Given the description of an element on the screen output the (x, y) to click on. 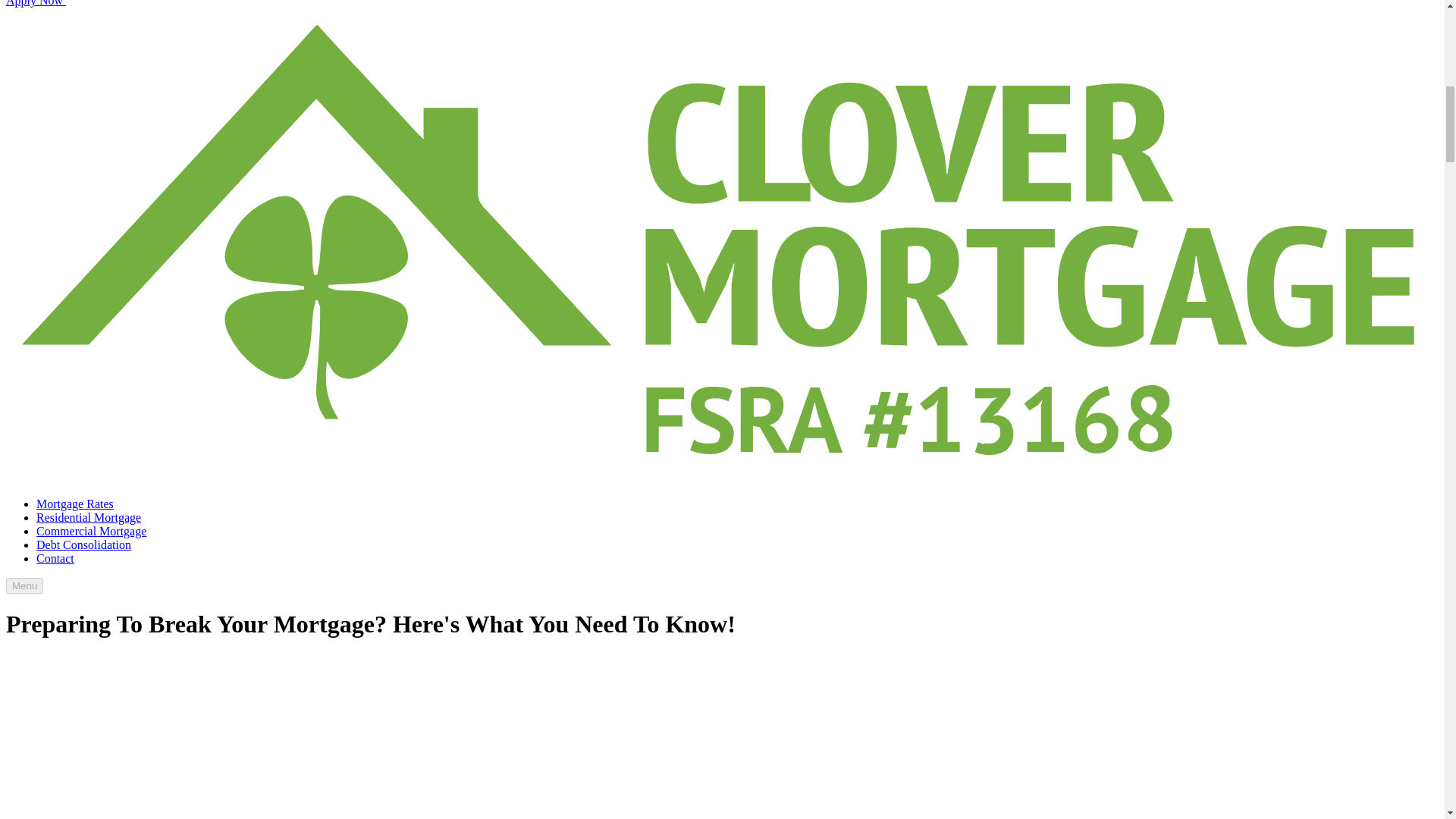
Apply Now (149, 3)
Residential Mortgage (88, 517)
Debt Consolidation (83, 544)
Menu (24, 585)
Contact (55, 558)
Commercial Mortgage (91, 530)
Mortgage Rates (74, 503)
